Given the description of an element on the screen output the (x, y) to click on. 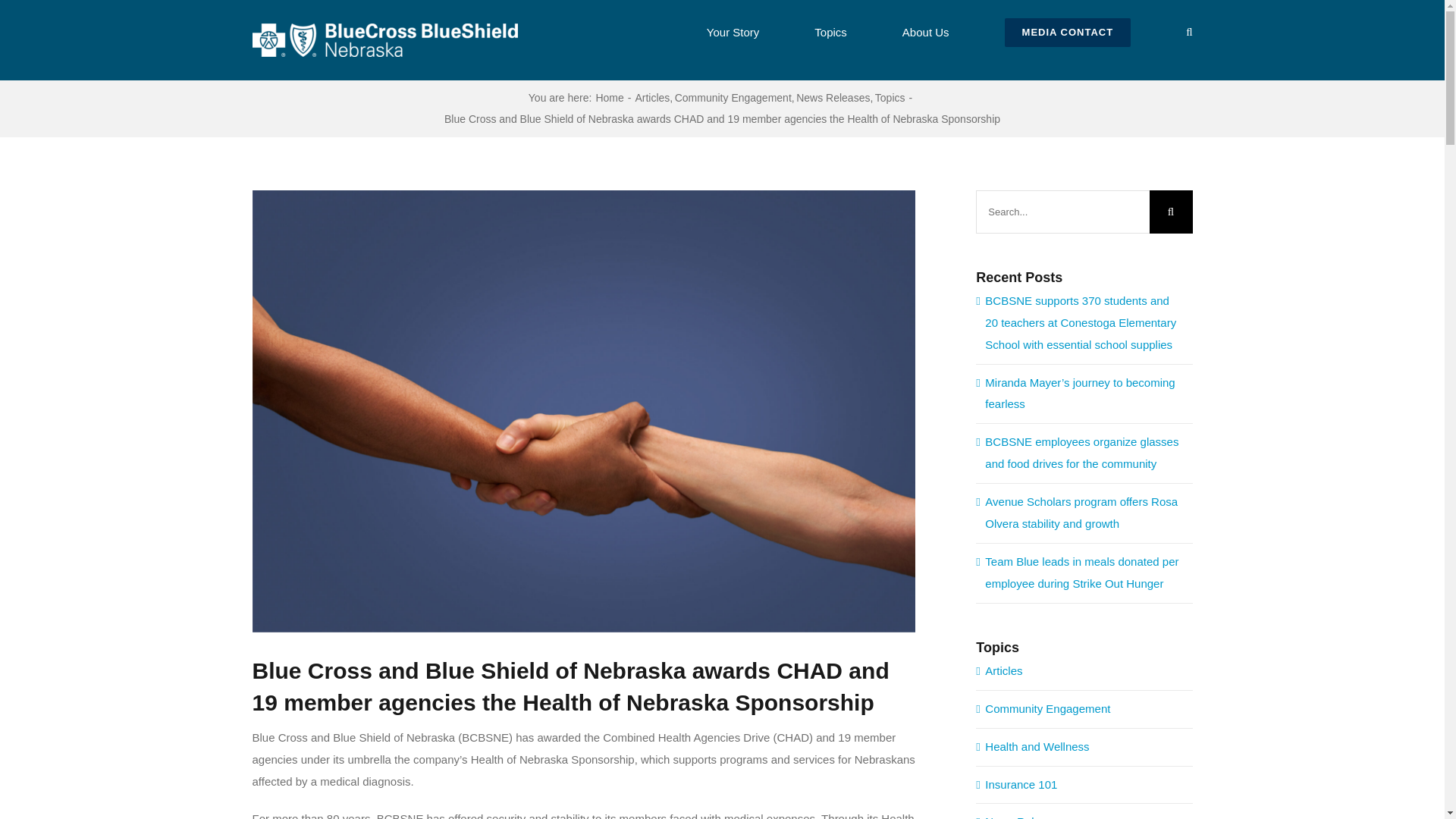
Community Engagement (733, 97)
Articles (651, 97)
Home (609, 97)
Topics (890, 97)
News Releases (832, 97)
MEDIA CONTACT (1067, 30)
